Given the description of an element on the screen output the (x, y) to click on. 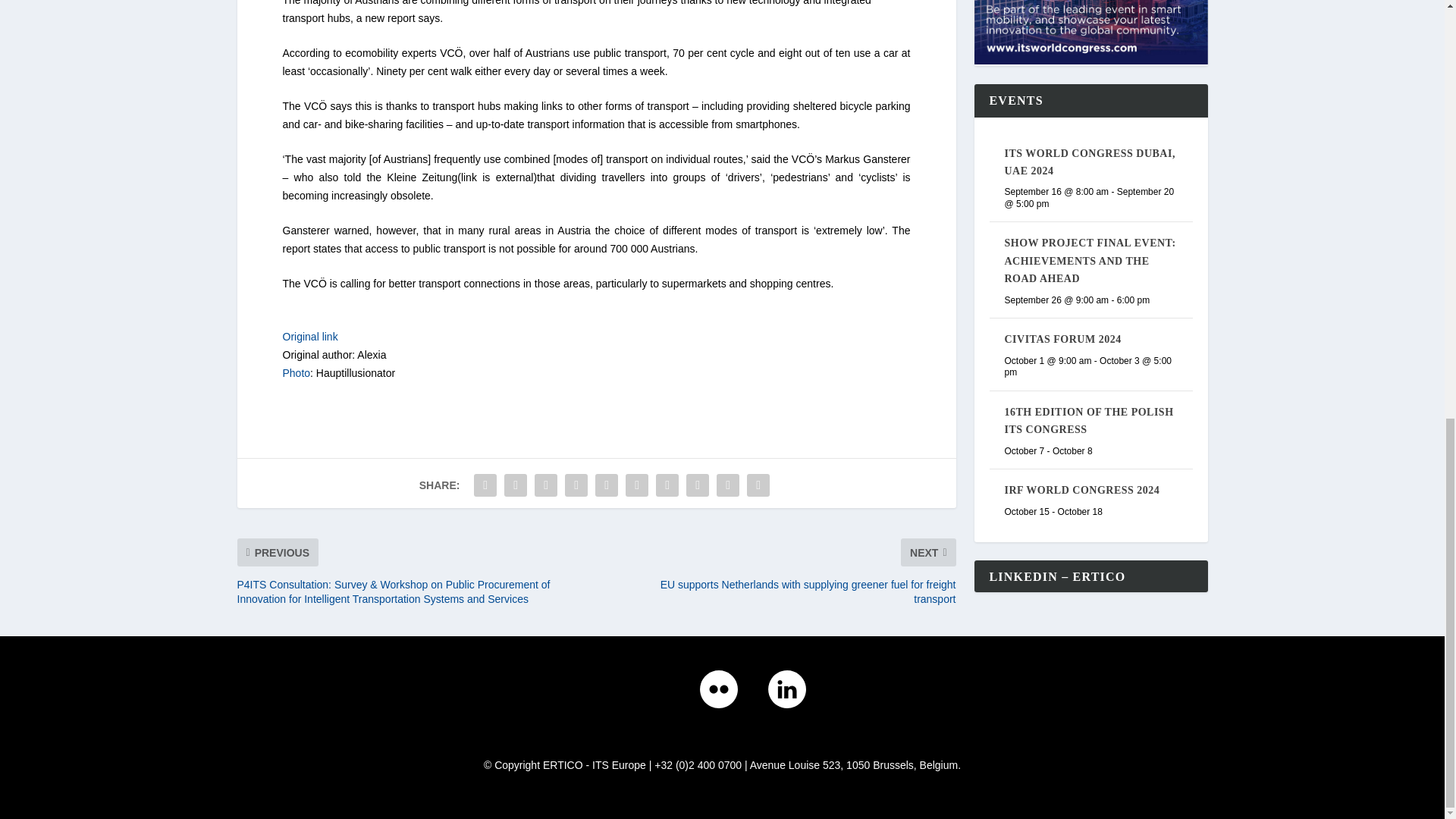
Original link (309, 336)
ITS WORLD CONGRESS DUBAI, UAE 2024 (1089, 162)
Photo (296, 372)
SHOW PROJECT FINAL EVENT: ACHIEVEMENTS AND THE ROAD AHEAD (1089, 260)
CIVITAS FORUM 2024 (1062, 338)
